Given the description of an element on the screen output the (x, y) to click on. 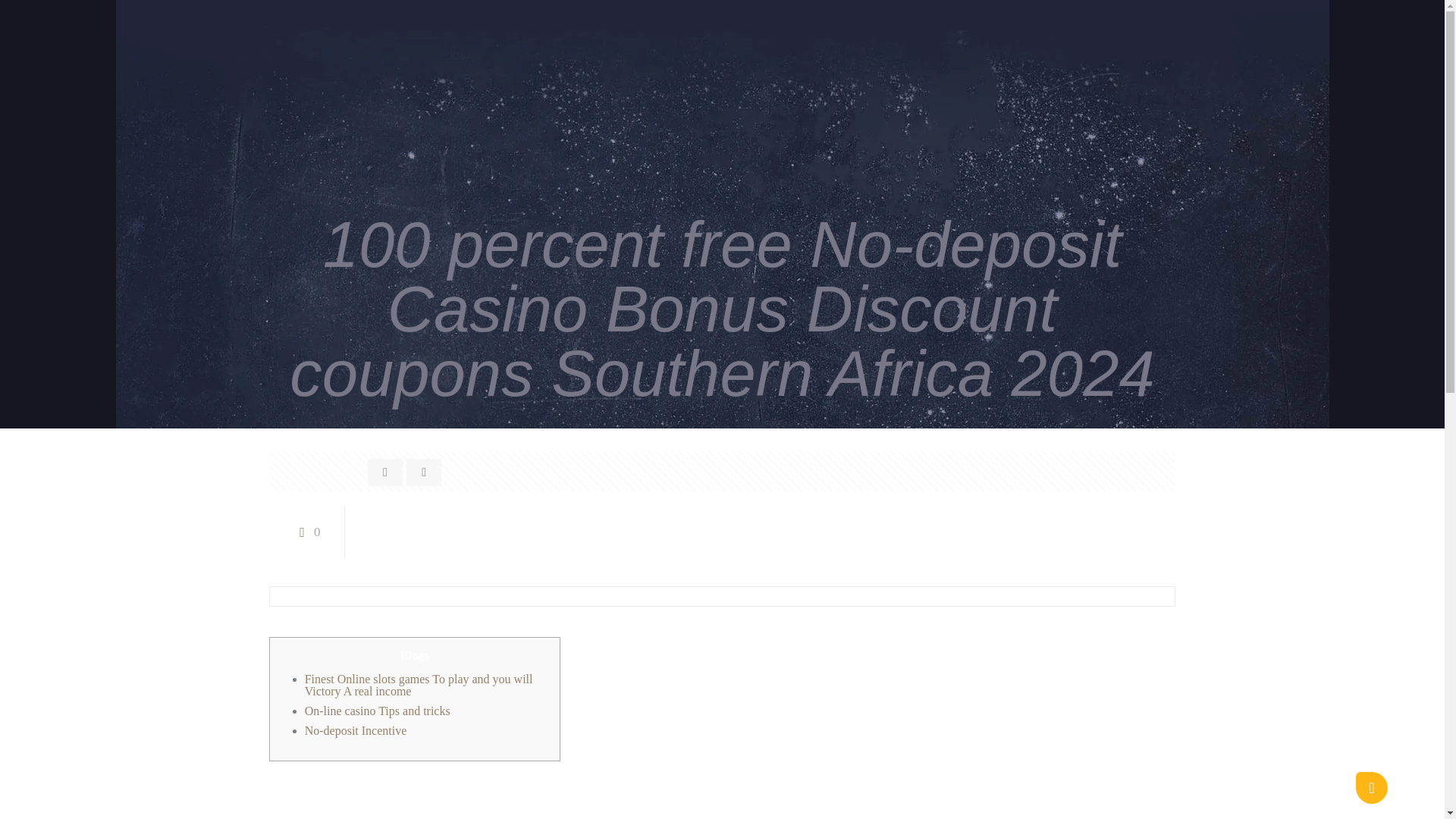
On-line casino Tips and tricks (376, 710)
0 (306, 531)
No-deposit Incentive (355, 730)
